Given the description of an element on the screen output the (x, y) to click on. 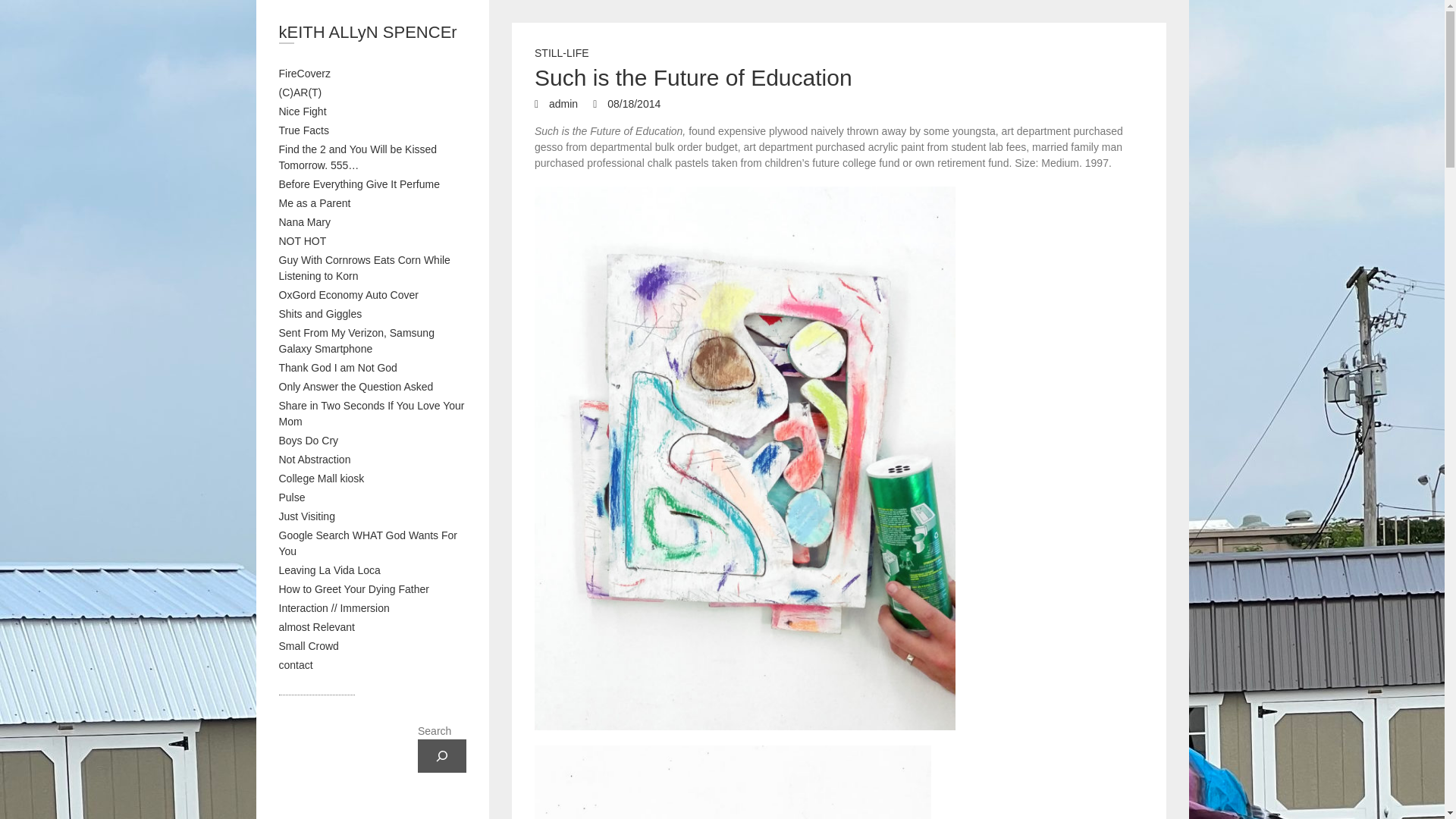
19:22 (626, 103)
STILL-LIFE (561, 54)
Nana Mary (304, 222)
Leaving La Vida Loca (329, 570)
Google Search WHAT God Wants For You (368, 543)
contact (296, 664)
Share in Two Seconds If You Love Your Mom (371, 413)
OxGord Economy Auto Cover (349, 295)
True Facts (304, 130)
College Mall kiosk (322, 478)
Only Answer the Question Asked (356, 386)
Sent From My Verizon, Samsung Galaxy Smartphone (356, 340)
Guy With Cornrows Eats Corn While Listening to Korn (364, 267)
Not Abstraction (314, 459)
How to Greet Your Dying Father (354, 589)
